Given the description of an element on the screen output the (x, y) to click on. 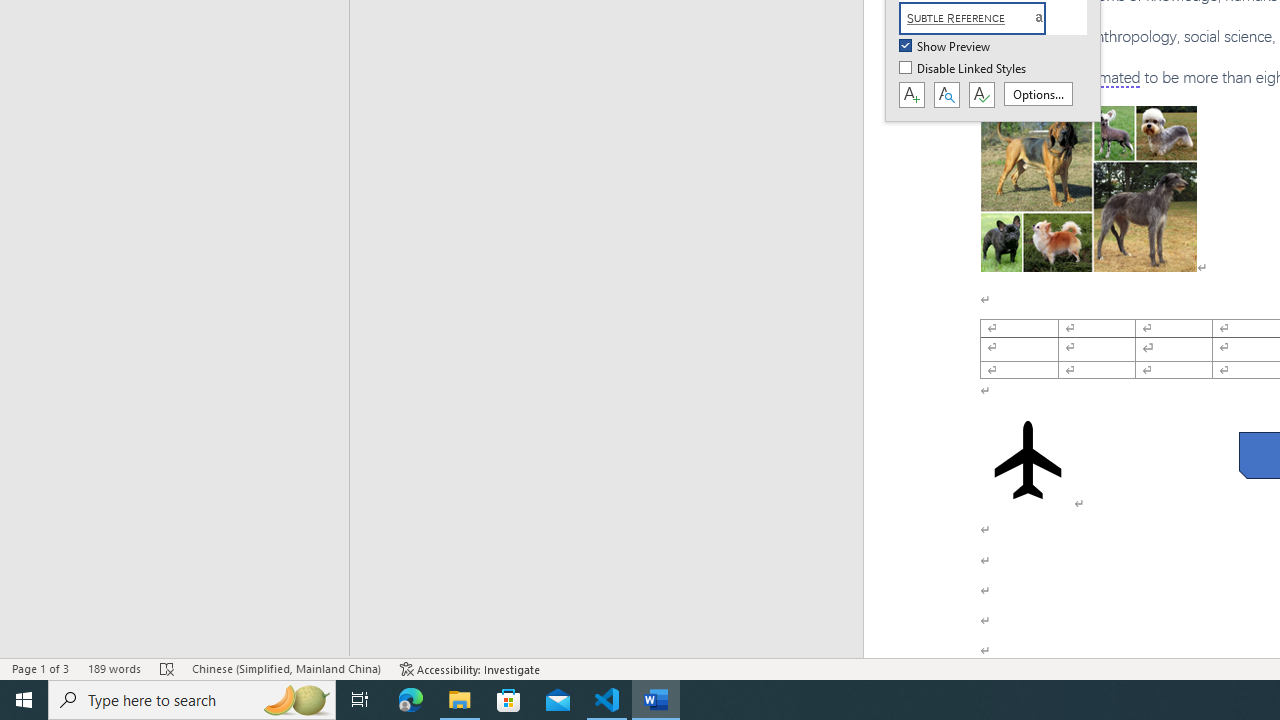
Page Number Page 1 of 3 (39, 668)
Disable Linked Styles (964, 69)
Class: NetUIButton (981, 95)
Show Preview (946, 47)
Options... (1037, 93)
